Given the description of an element on the screen output the (x, y) to click on. 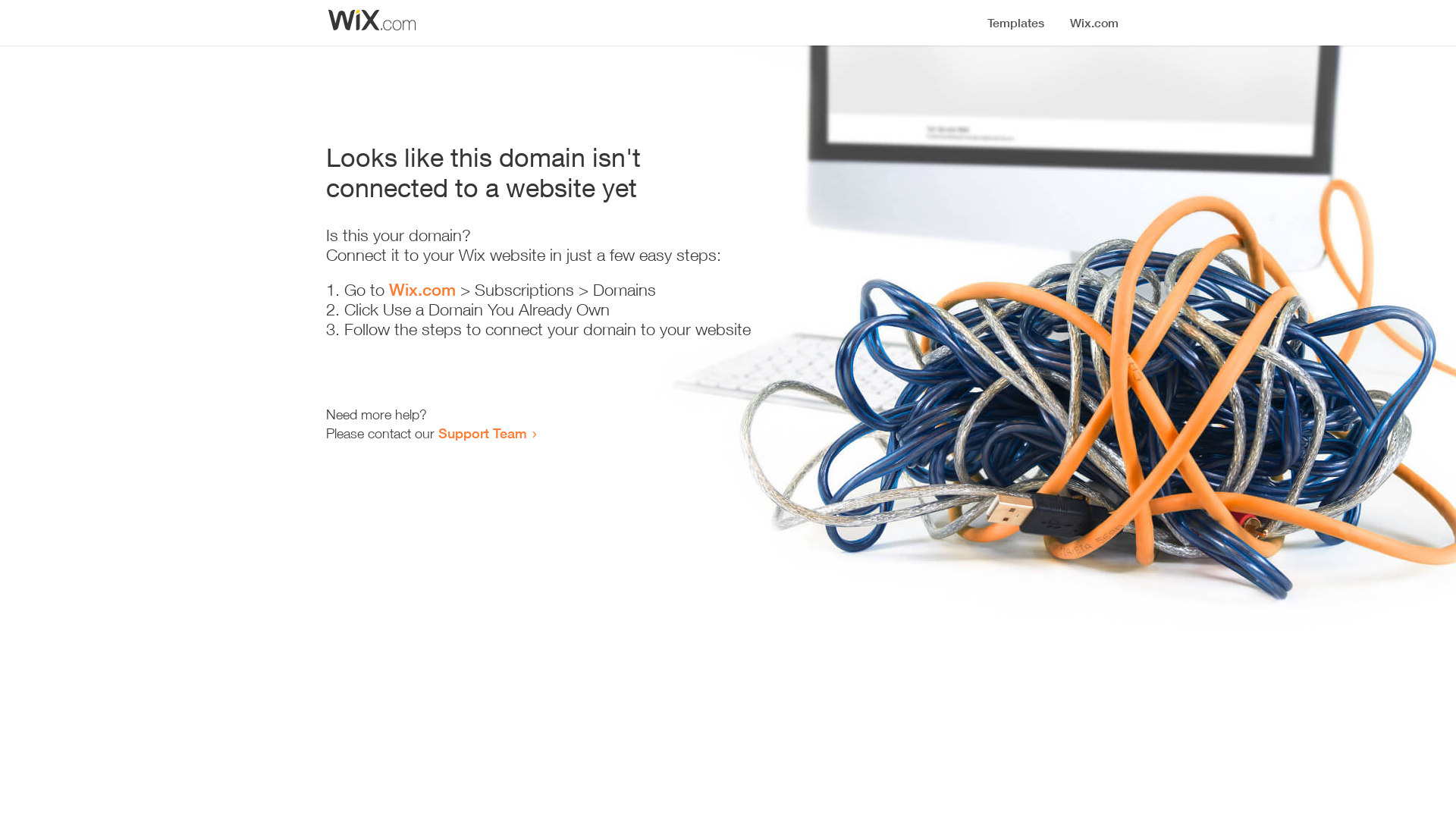
Support Team Element type: text (482, 432)
Wix.com Element type: text (422, 289)
